Given the description of an element on the screen output the (x, y) to click on. 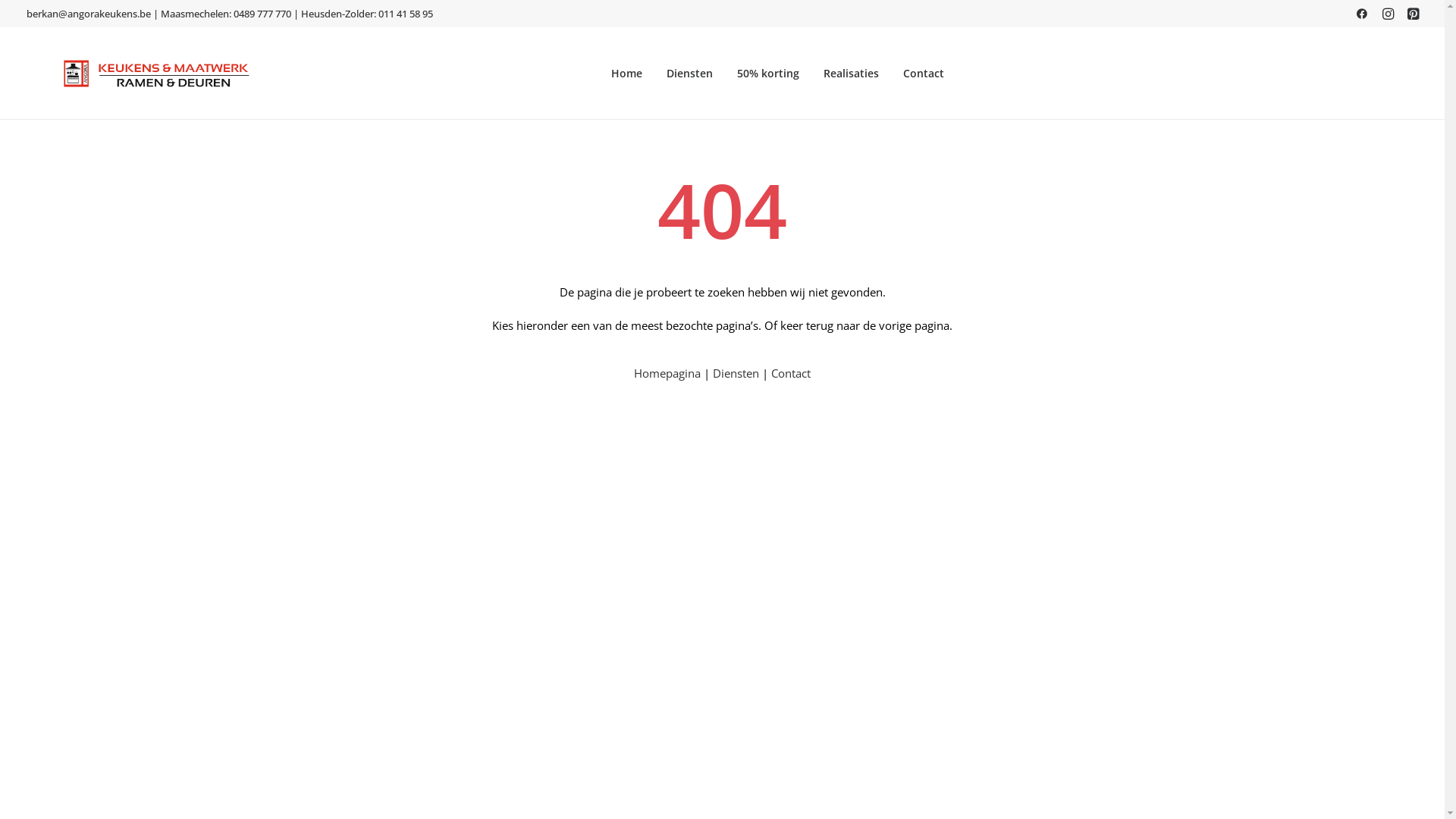
Home Element type: text (626, 73)
berkan@angorakeukens.be Element type: text (87, 13)
Realisaties Element type: text (850, 73)
Contact Element type: text (923, 73)
50% korting Element type: text (767, 73)
0489 777 770 Element type: text (262, 13)
Contact Element type: text (790, 372)
Homepagina Element type: text (666, 372)
Diensten Element type: text (735, 372)
Diensten Element type: text (689, 73)
011 41 58 95 Element type: text (404, 13)
